Given the description of an element on the screen output the (x, y) to click on. 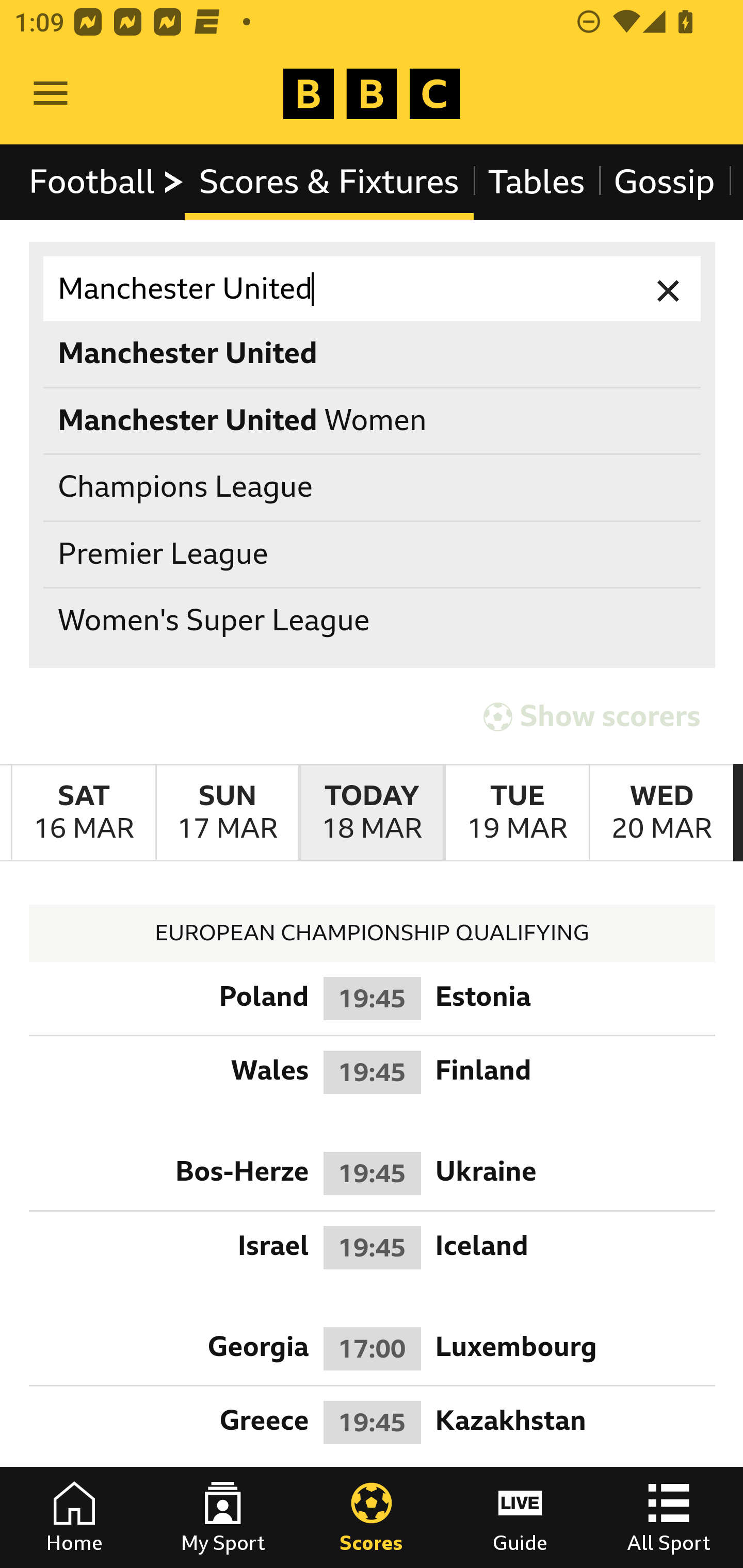
Open Menu (50, 93)
Football  (106, 181)
Scores & Fixtures (329, 181)
Tables (536, 181)
Gossip (664, 181)
Manchester United (372, 289)
Clear input (669, 289)
Manchester United Women Manchester United  Women (372, 419)
Champions League (372, 488)
Premier League (372, 554)
Women's Super League (372, 620)
Show scorers (591, 716)
SaturdayMarch 16th Saturday March 16th (83, 812)
SundayMarch 17th Sunday March 17th (227, 812)
TodayMarch 18th Today March 18th (371, 812)
TuesdayMarch 19th Tuesday March 19th (516, 812)
WednesdayMarch 20th Wednesday March 20th (661, 812)
Home (74, 1517)
My Sport (222, 1517)
Guide (519, 1517)
All Sport (668, 1517)
